Given the description of an element on the screen output the (x, y) to click on. 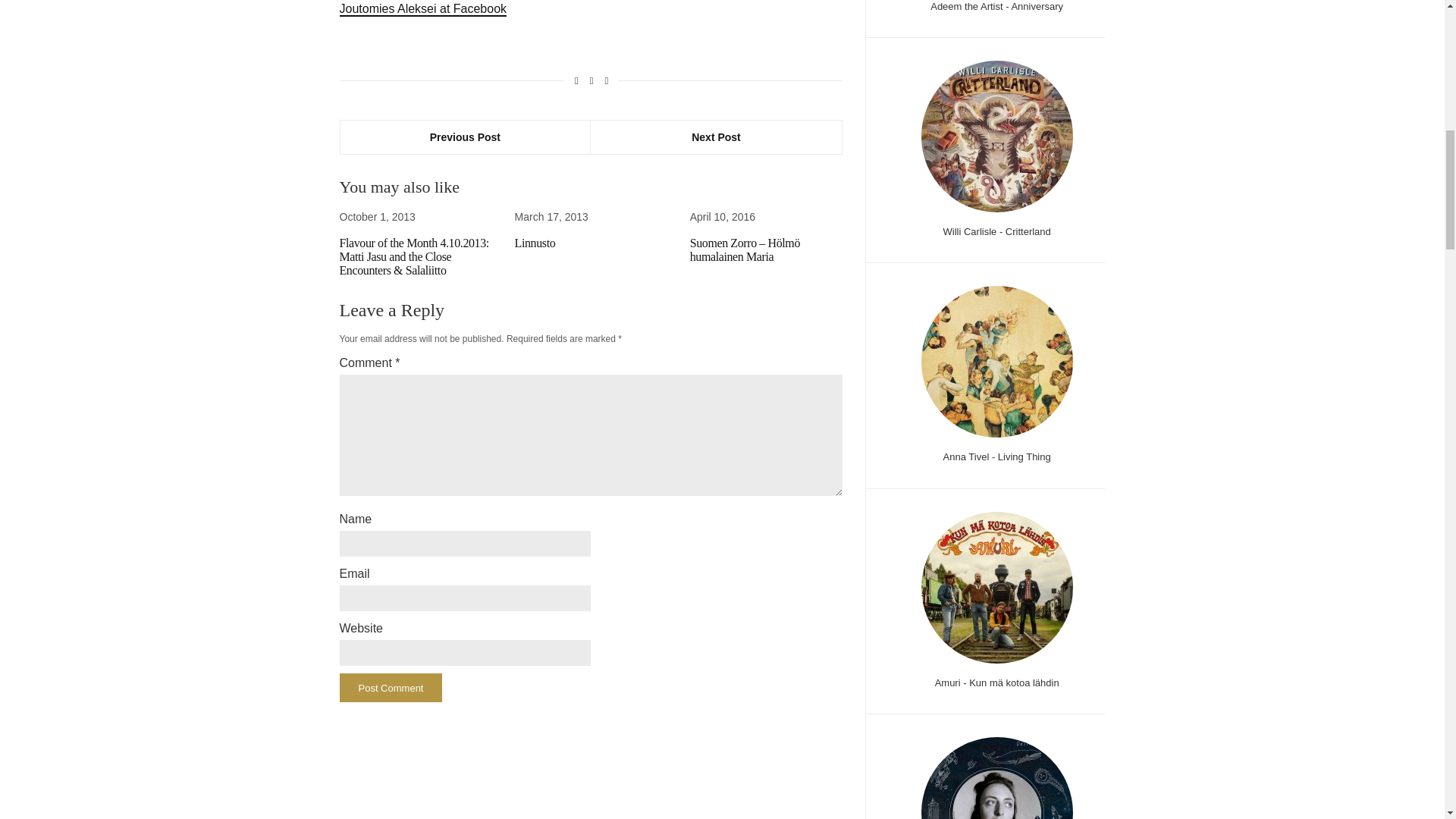
Next Post (716, 136)
Post Comment (390, 687)
Post Comment (390, 687)
Previous Post (465, 136)
Joutomies Aleksei at Facebook (422, 9)
Linnusto (535, 242)
